Given the description of an element on the screen output the (x, y) to click on. 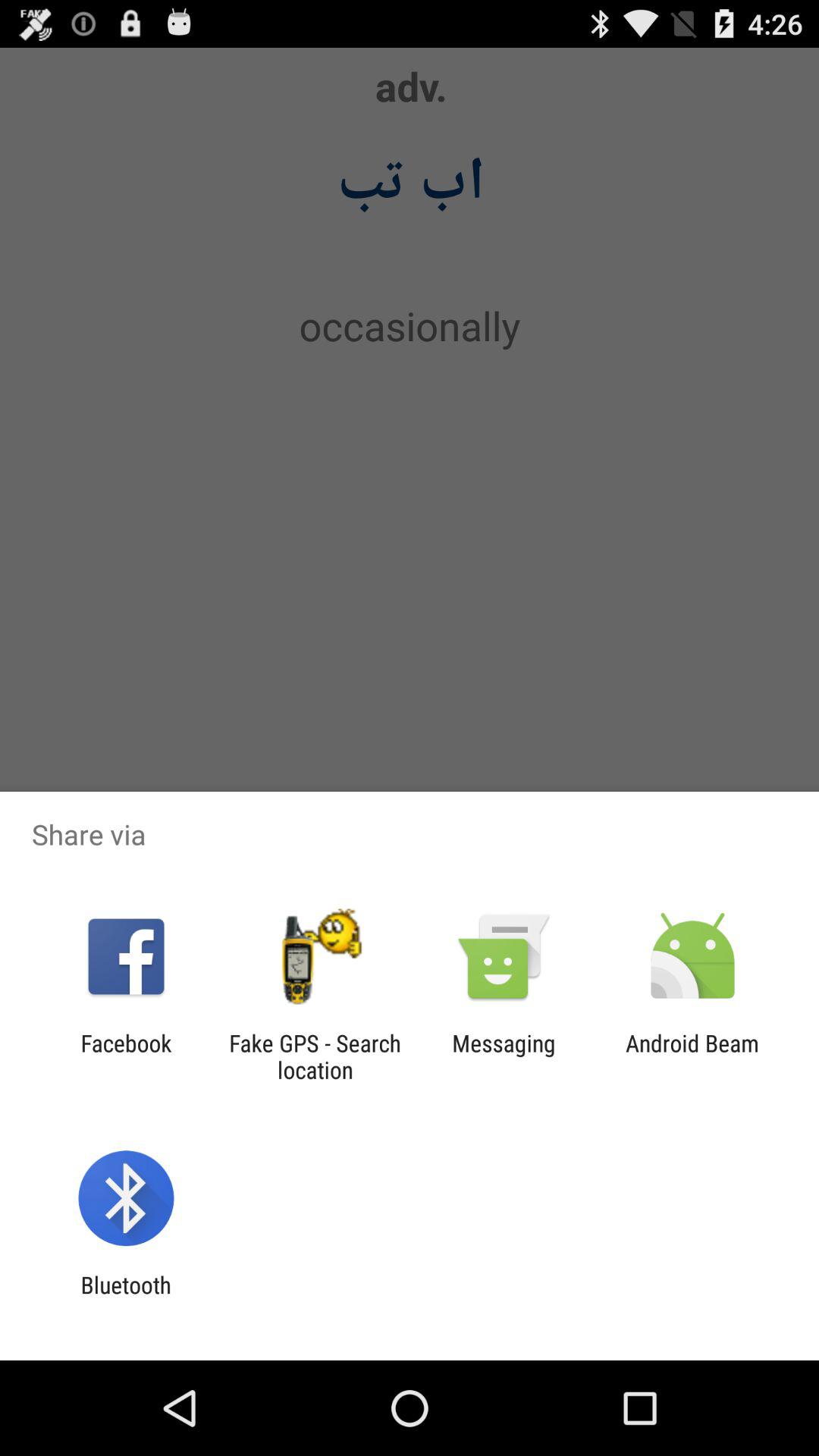
open the app to the right of facebook icon (314, 1056)
